Given the description of an element on the screen output the (x, y) to click on. 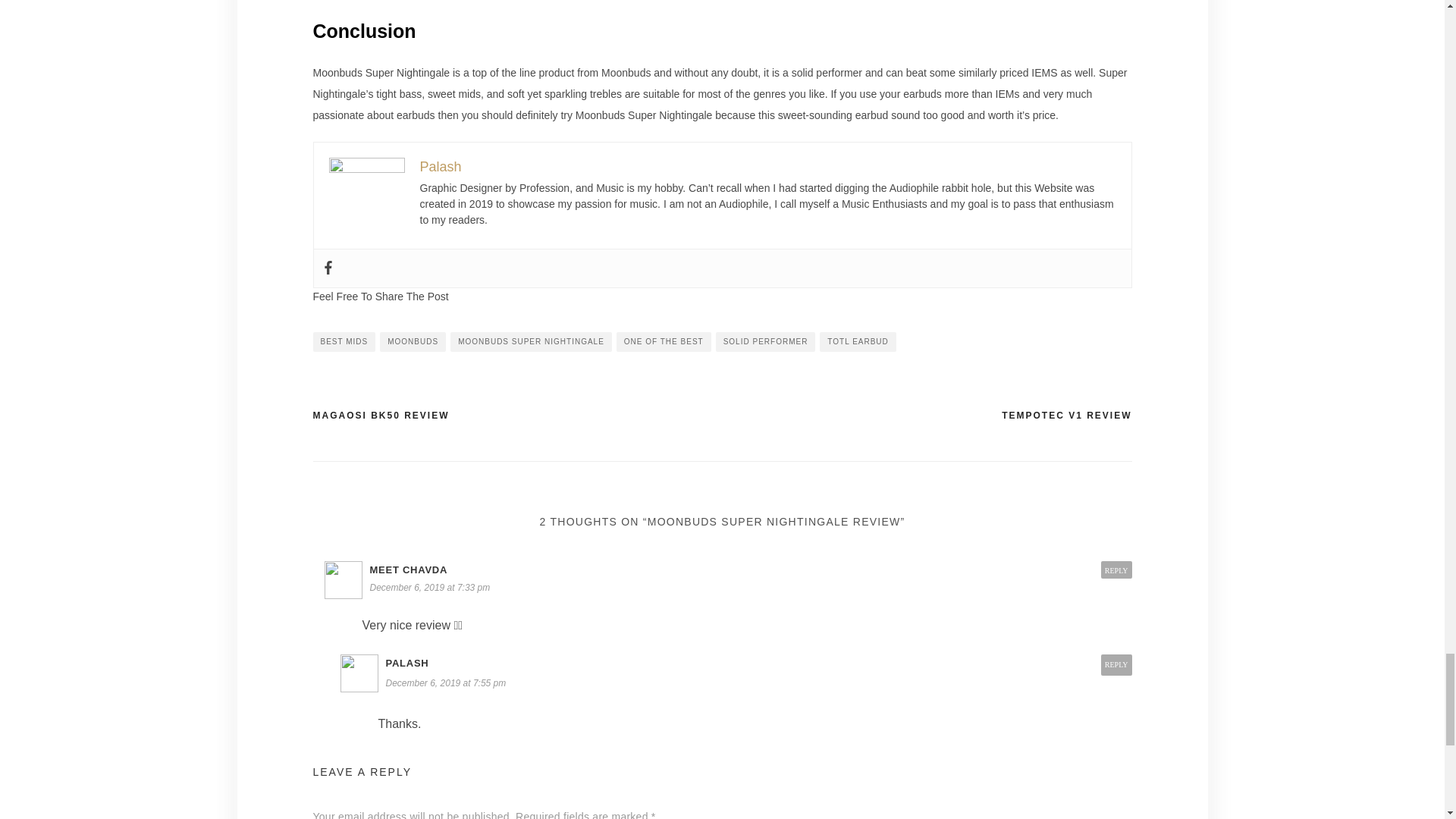
MOONBUDS (412, 342)
BEST MIDS (344, 342)
Facebook (327, 268)
Palash (440, 166)
